Given the description of an element on the screen output the (x, y) to click on. 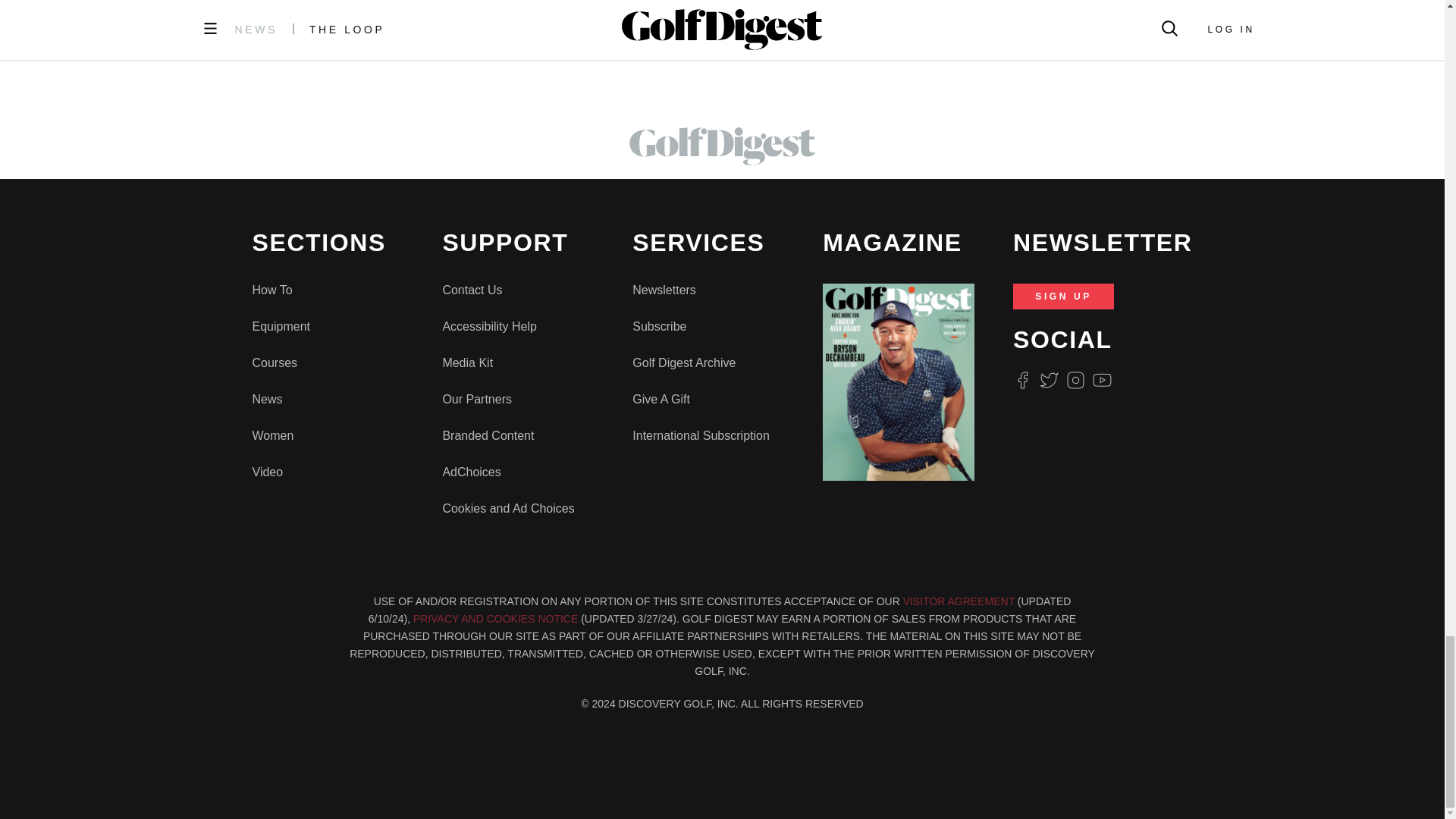
Instagram Logo (1074, 380)
Facebook Logo (1022, 380)
Twitter Logo (1048, 380)
Youtube Icon (1102, 380)
